Given the description of an element on the screen output the (x, y) to click on. 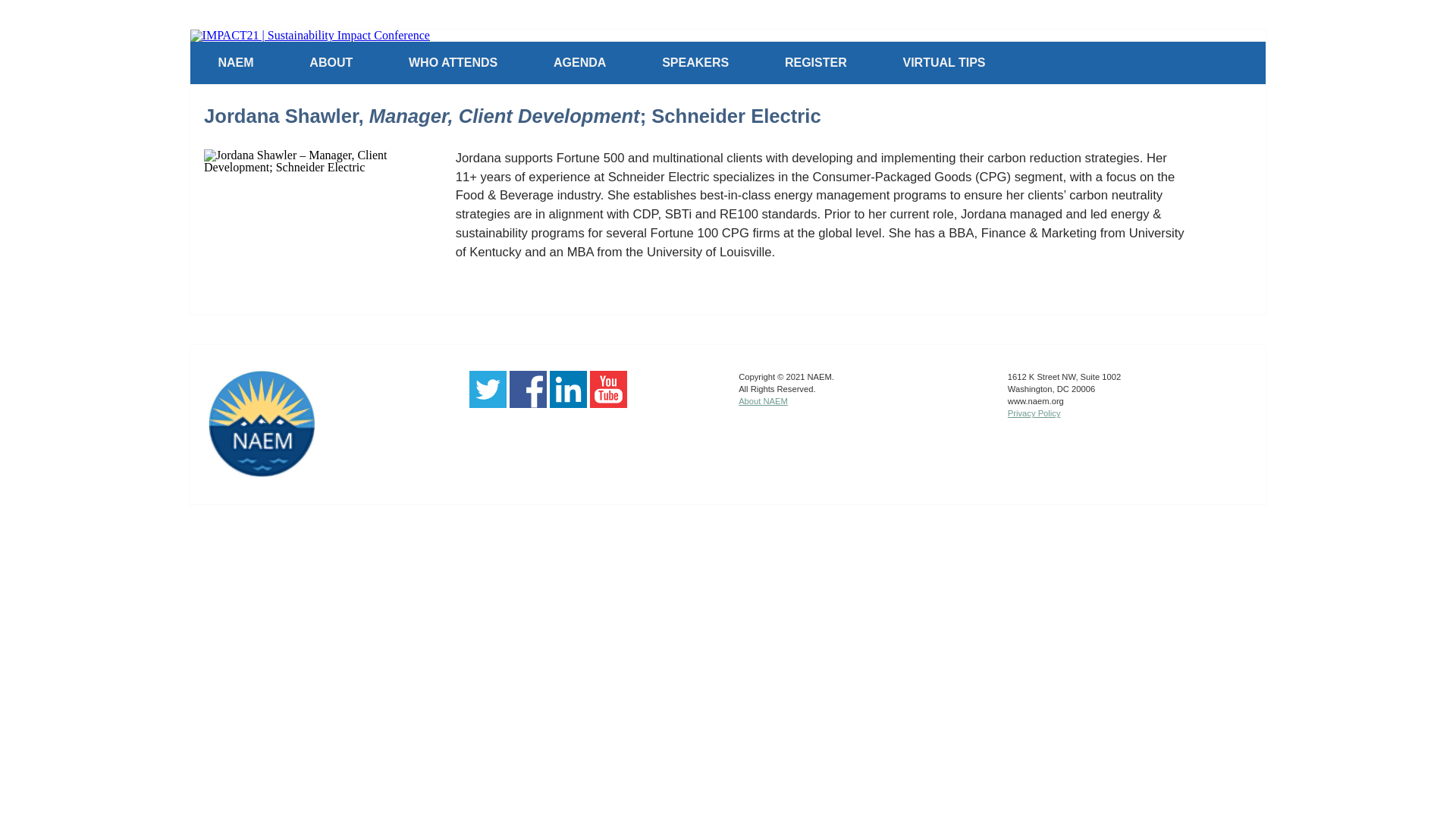
About NAEM (762, 400)
NAEM Facebook (528, 403)
SPEAKERS (695, 62)
ABOUT (330, 62)
NAEM (236, 62)
NAEM LinkedIn (568, 403)
NAEM's Privacy Policy (1034, 412)
AGENDA (579, 62)
NAEM Twitter (487, 403)
WHO ATTENDS (452, 62)
Privacy Policy (1034, 412)
NAEMorgTV (608, 403)
VIRTUAL TIPS (944, 62)
REGISTER (816, 62)
